Given the description of an element on the screen output the (x, y) to click on. 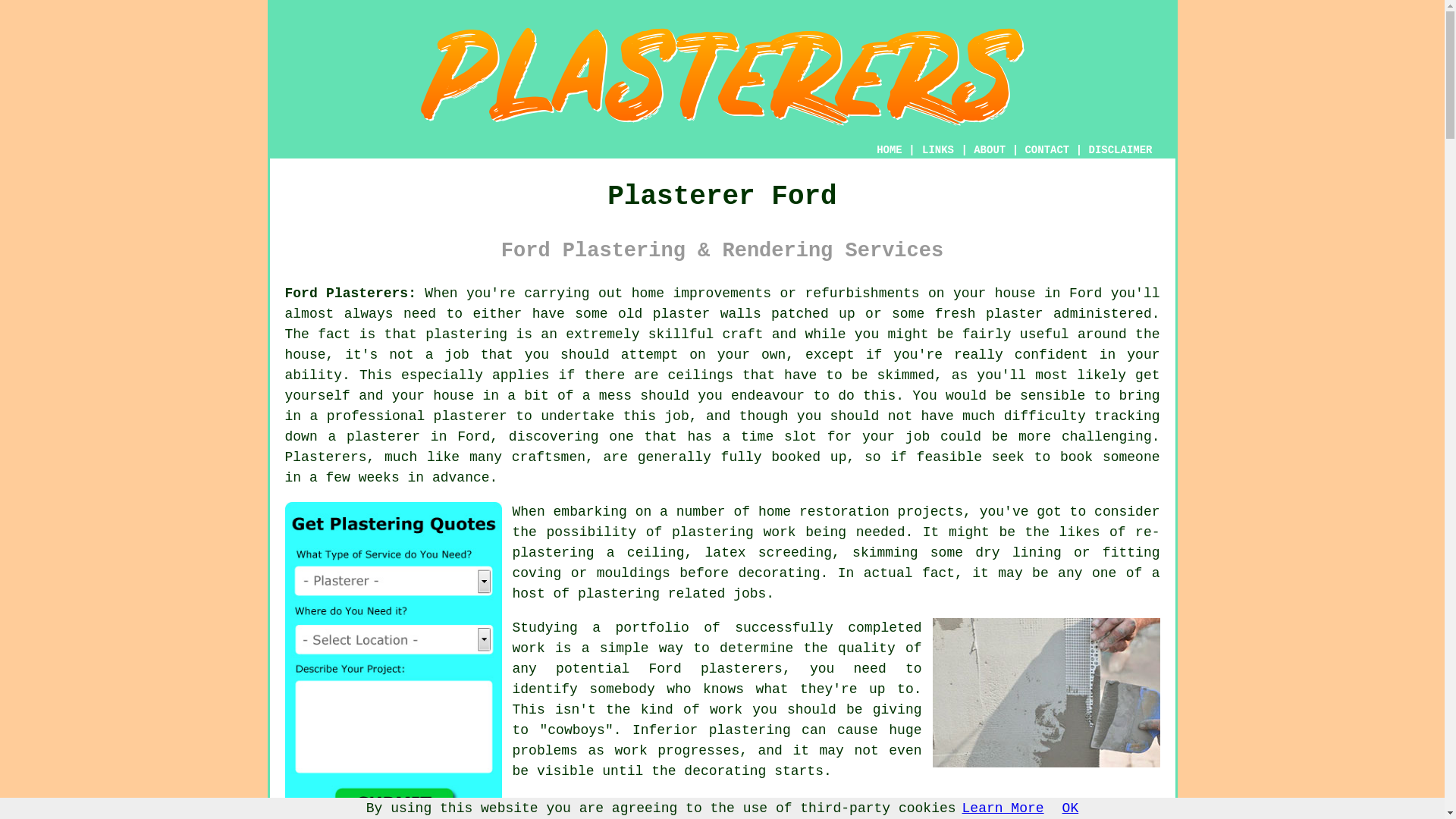
Plasterers Ford (1046, 692)
Plasterer Ford (722, 76)
HOME (889, 150)
LINKS (938, 150)
